Given the description of an element on the screen output the (x, y) to click on. 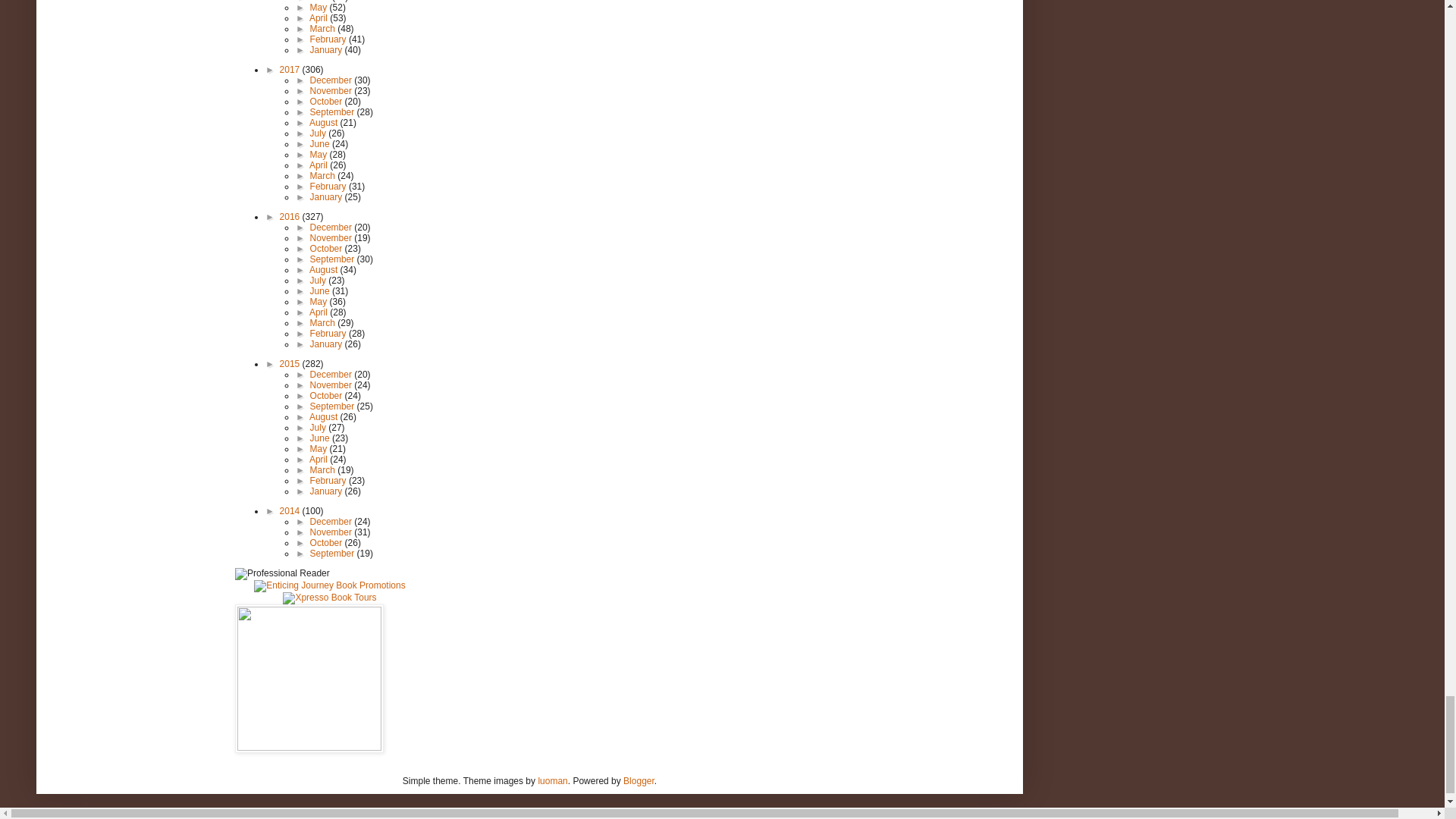
Professional Reader (282, 573)
Enticing Journey Book Promotions (328, 584)
Xpresso Book Tours (328, 597)
